Given the description of an element on the screen output the (x, y) to click on. 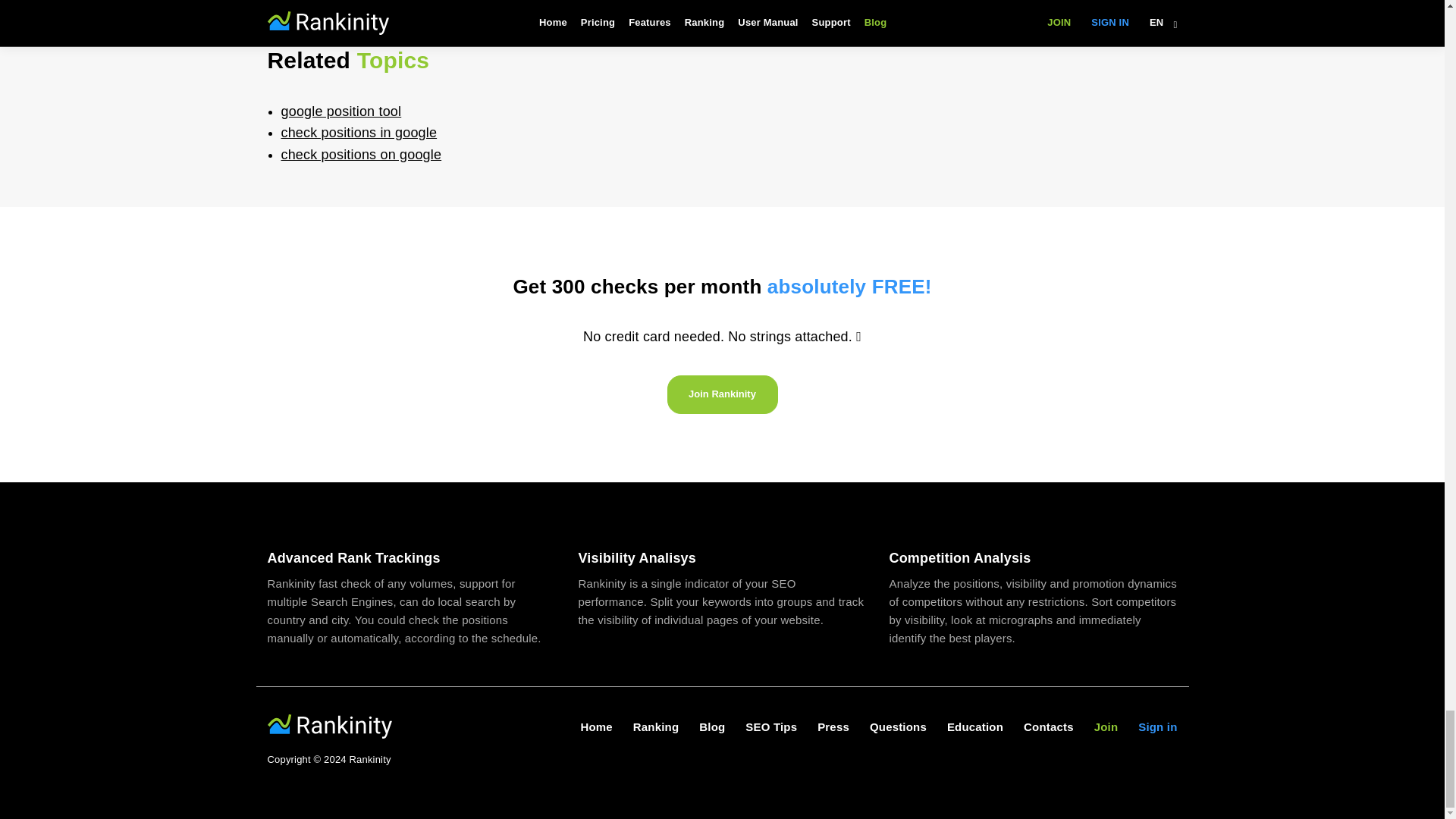
SEO Tips (770, 727)
Blog (711, 727)
google position tool (341, 111)
Education (975, 727)
Press (832, 727)
Press (832, 727)
check positions on google (361, 154)
Home (595, 727)
Ranking (655, 727)
Home (595, 727)
